Given the description of an element on the screen output the (x, y) to click on. 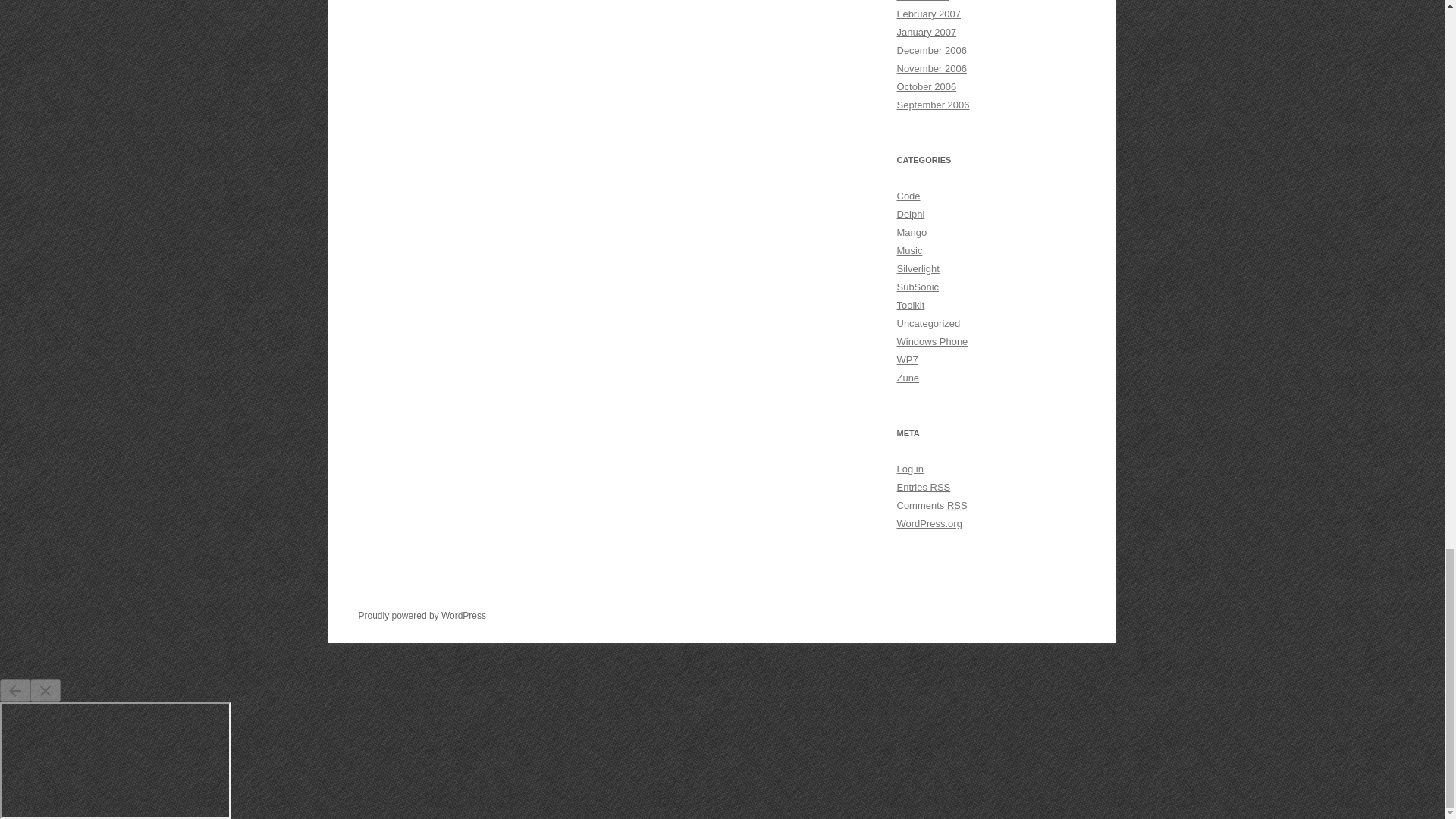
View all posts filed under Silverlight (917, 268)
View all posts filed under Delphi (910, 214)
View all posts filed under Uncategorized (927, 323)
View all posts filed under Toolkit (910, 305)
View all posts filed under SubSonic (917, 286)
View all posts filed under Mango (911, 232)
View all posts filed under Code (908, 195)
View all posts filed under Music (908, 250)
